Given the description of an element on the screen output the (x, y) to click on. 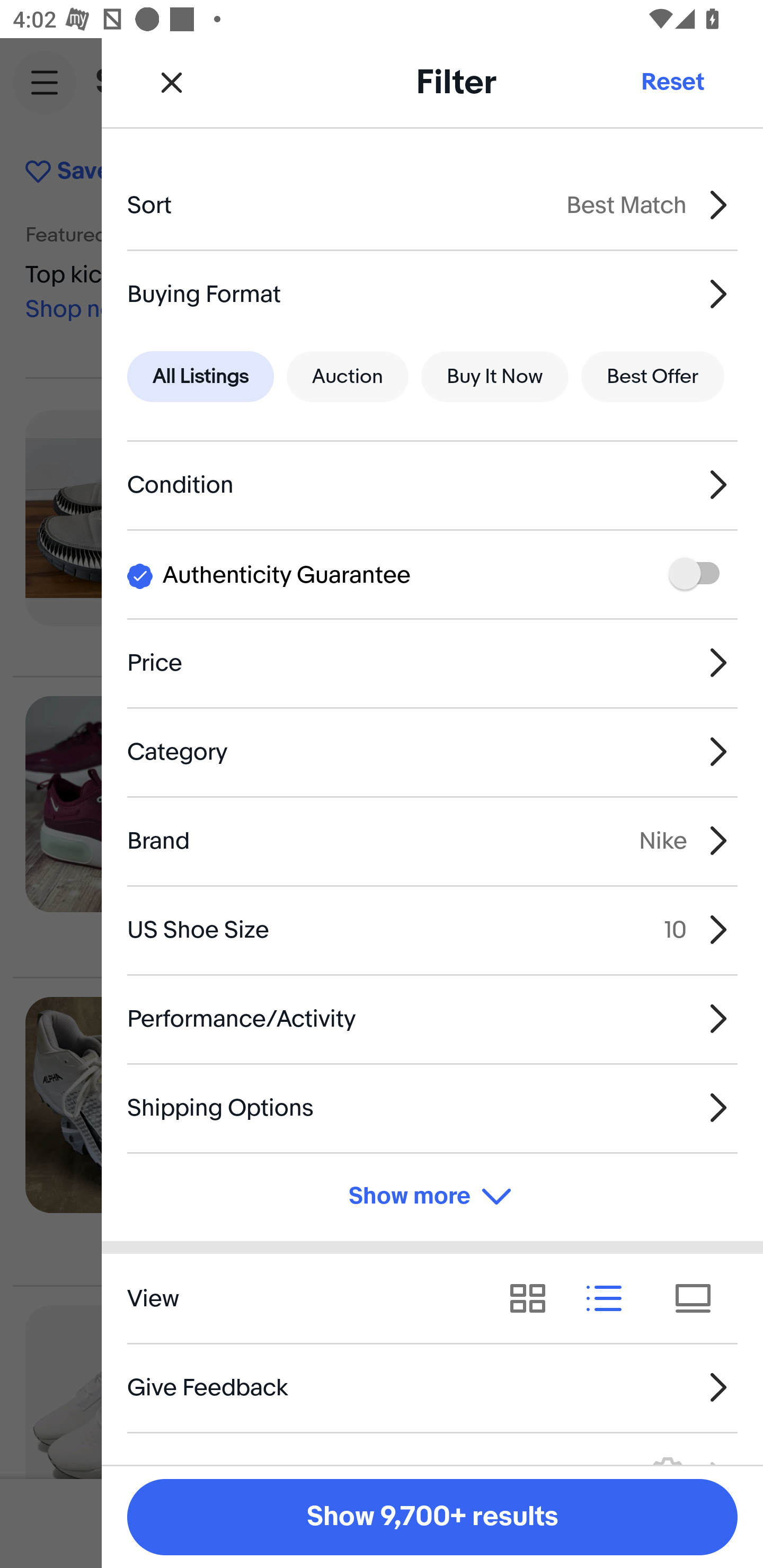
Close Filter (171, 81)
Reset (672, 81)
Buying Format (432, 293)
All Listings (200, 376)
Auction (347, 376)
Buy It Now (494, 376)
Best Offer (652, 376)
Condition (432, 484)
I  Authenticity Guarantee (432, 573)
Price (432, 662)
Category (432, 751)
Brand Nike (432, 840)
US Shoe Size 10 (432, 929)
Performance/Activity (432, 1018)
Shipping Options (432, 1107)
Show more (432, 1196)
View results as grid (533, 1297)
View results as list (610, 1297)
View results as tiles (699, 1297)
Show 9,700+ results (432, 1516)
